Given the description of an element on the screen output the (x, y) to click on. 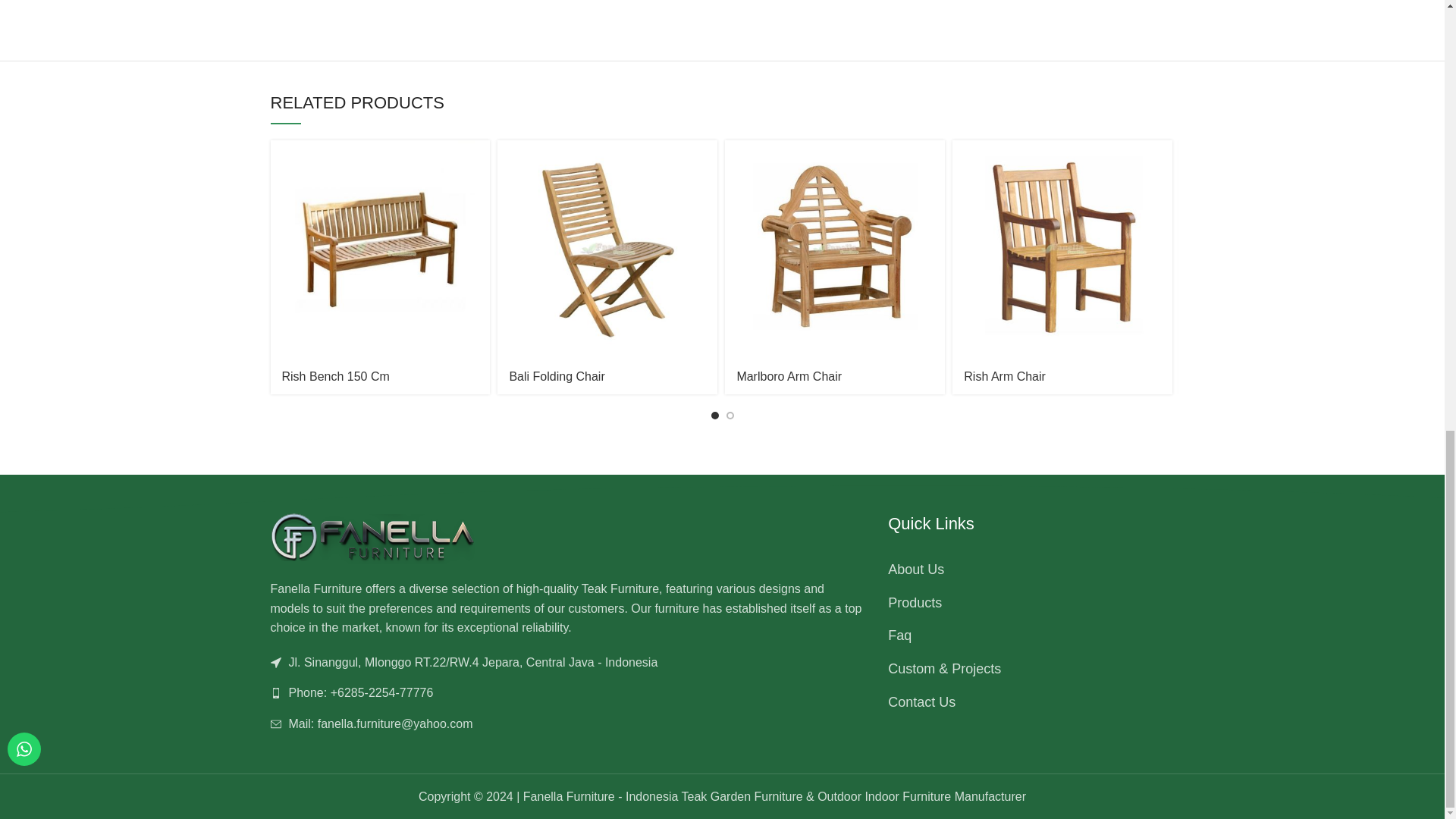
wd-cursor-light (275, 662)
wd-phone-light (275, 692)
wd-envelope-light (275, 724)
